Given the description of an element on the screen output the (x, y) to click on. 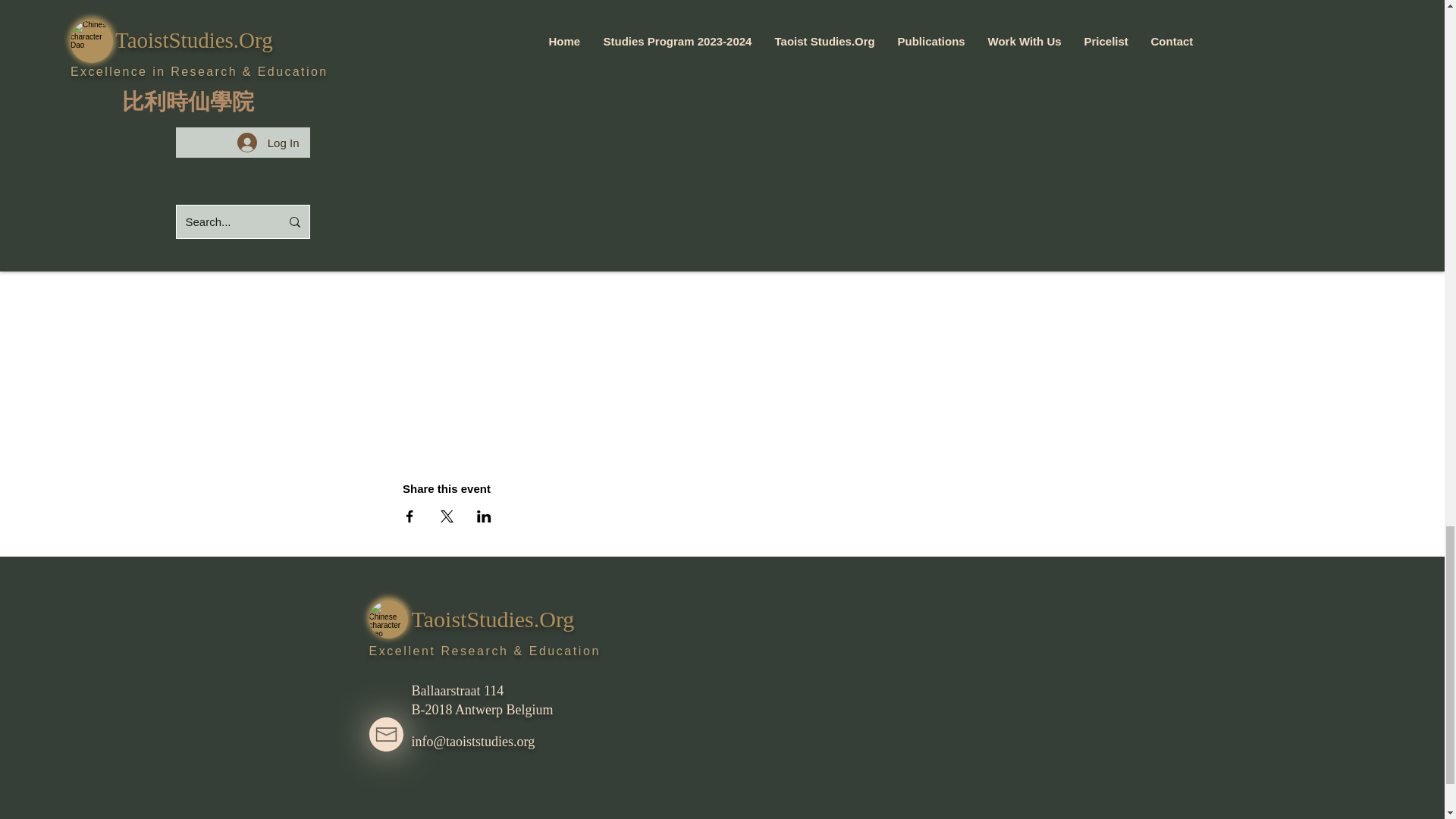
TaoistStudies.Org (491, 618)
More info (434, 29)
Checkout (914, 118)
LOGO GEKNIPT copy.png (387, 619)
